Given the description of an element on the screen output the (x, y) to click on. 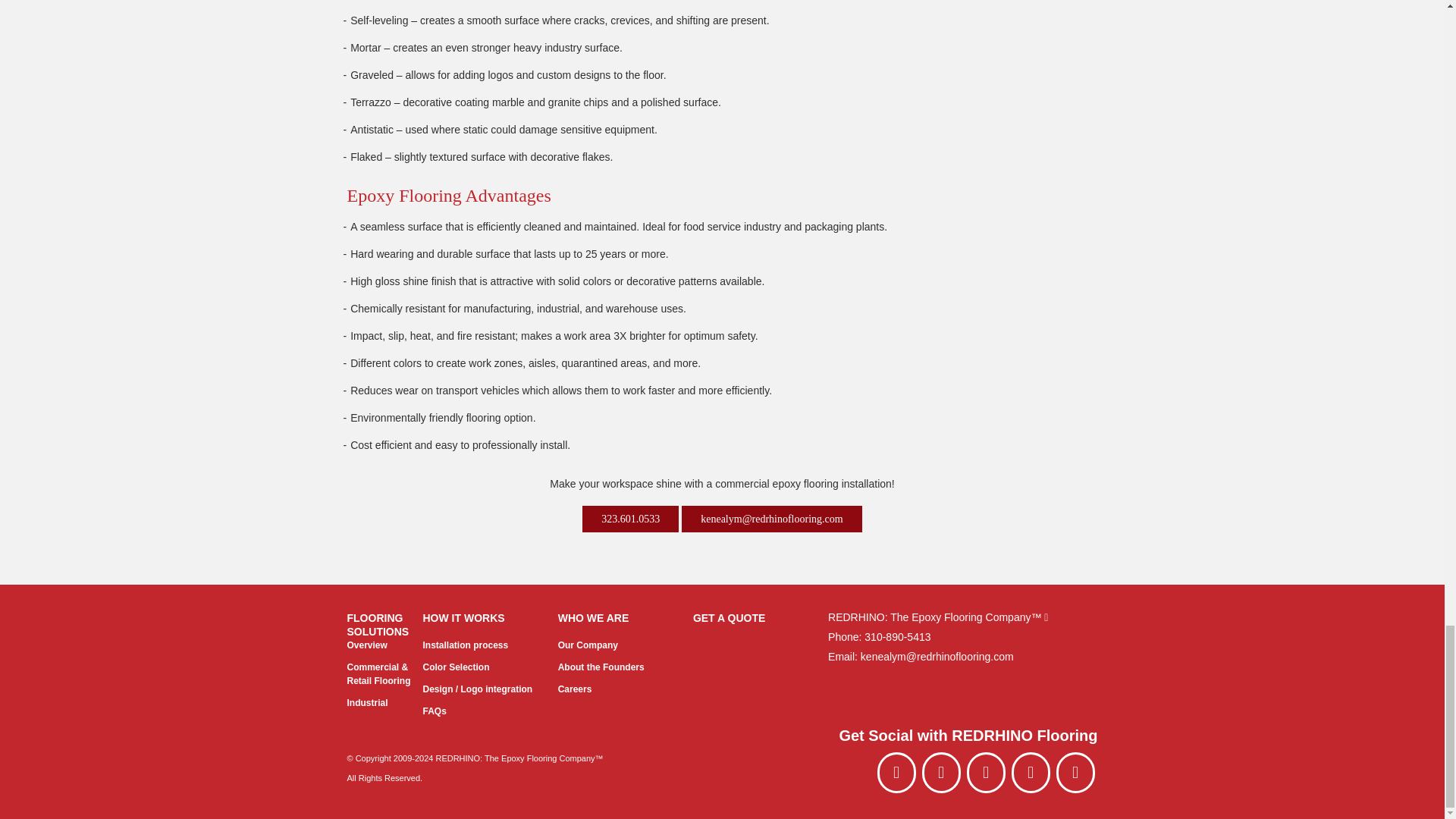
323.601.0533 (630, 519)
